Given the description of an element on the screen output the (x, y) to click on. 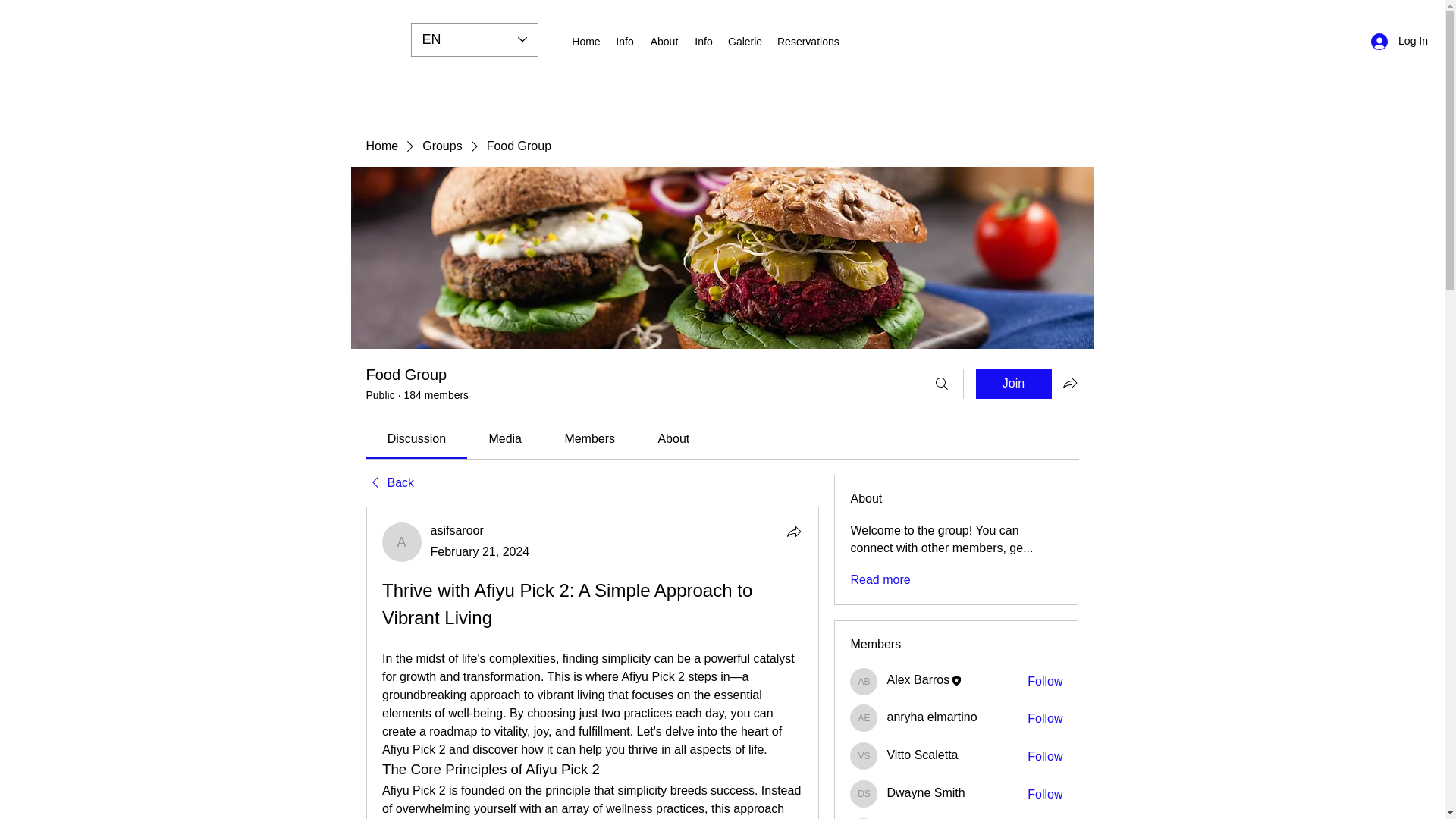
Alex Barros (917, 679)
Home (586, 41)
asifsaroor (456, 530)
asifsaroor (456, 530)
Reservations (807, 41)
Dwayne Smith (863, 793)
Groups (441, 146)
Info (625, 41)
About (664, 41)
Vitto Scaletta (922, 754)
